Given the description of an element on the screen output the (x, y) to click on. 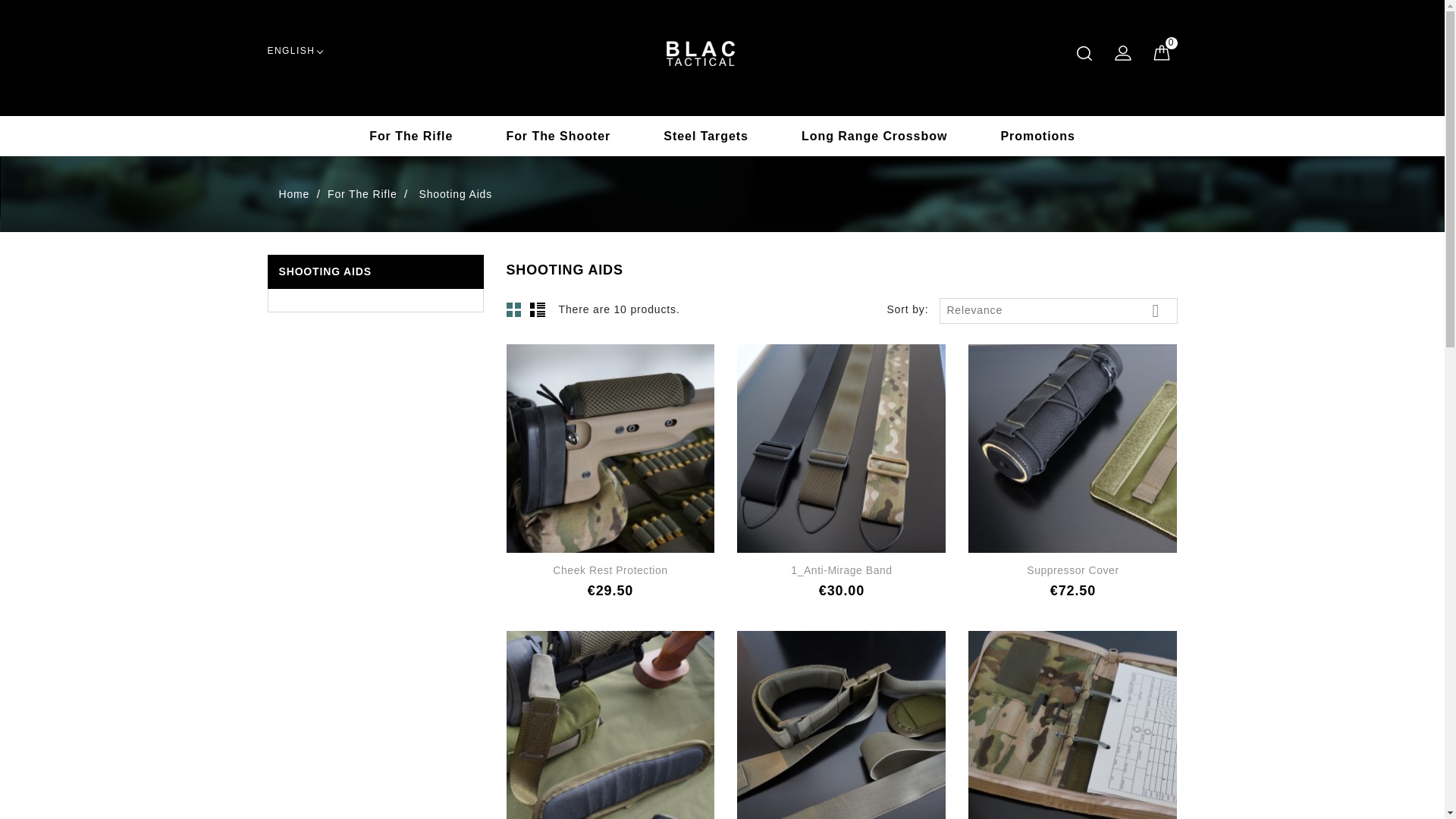
Home (296, 195)
0 (1161, 51)
For The Shooter (557, 136)
Promotions (1037, 136)
For The Rifle (410, 136)
List (536, 309)
List (536, 309)
For The Rifle (363, 195)
SHOOTING AIDS (325, 271)
Grid (513, 309)
Steel Targets (705, 136)
Shooting Aids (456, 195)
Sign In (1123, 52)
Log in to your customer account (1123, 52)
Long Range Crossbow (874, 136)
